Given the description of an element on the screen output the (x, y) to click on. 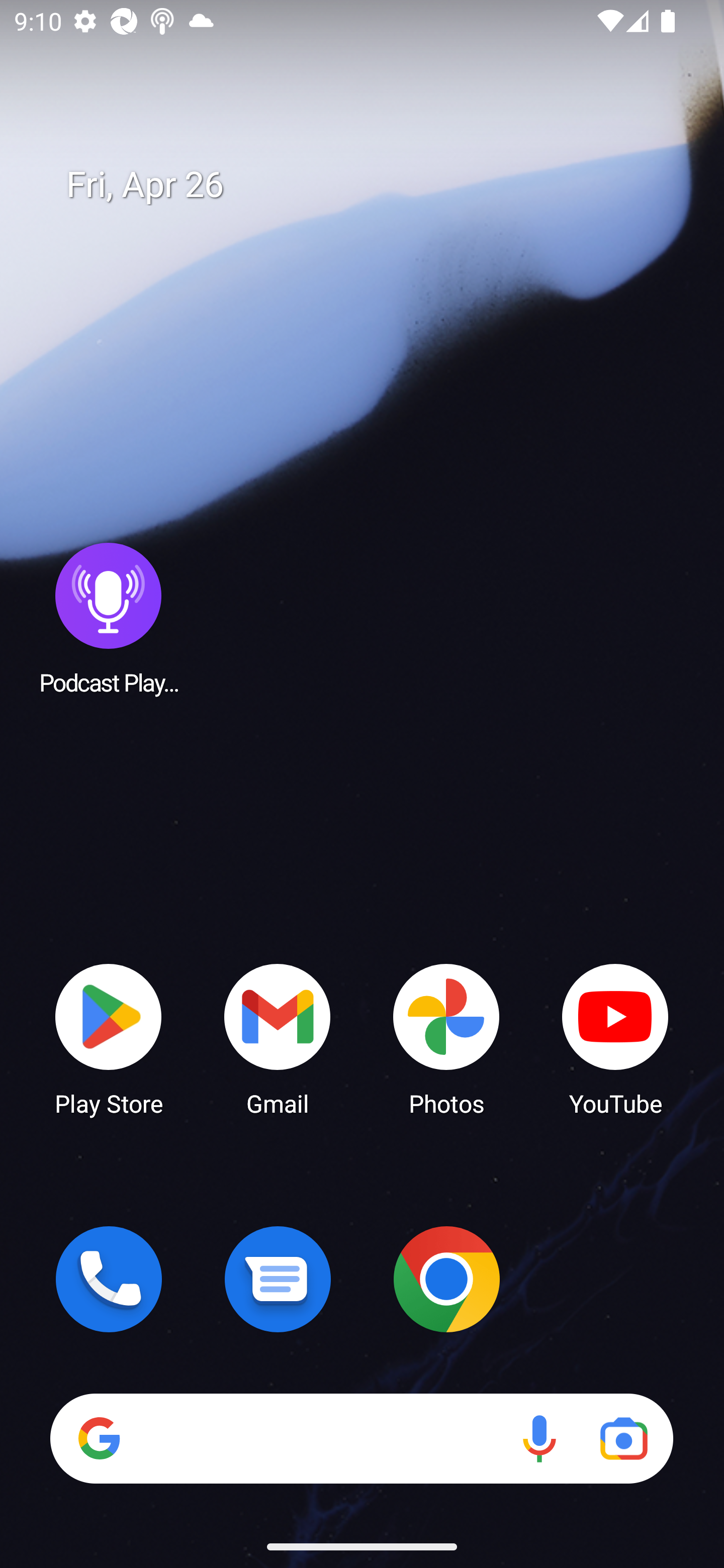
Fri, Apr 26 (375, 184)
Podcast Player (108, 617)
Play Store (108, 1038)
Gmail (277, 1038)
Photos (445, 1038)
YouTube (615, 1038)
Phone (108, 1279)
Messages (277, 1279)
Chrome (446, 1279)
Search Voice search Google Lens (361, 1438)
Voice search (539, 1438)
Google Lens (623, 1438)
